Given the description of an element on the screen output the (x, y) to click on. 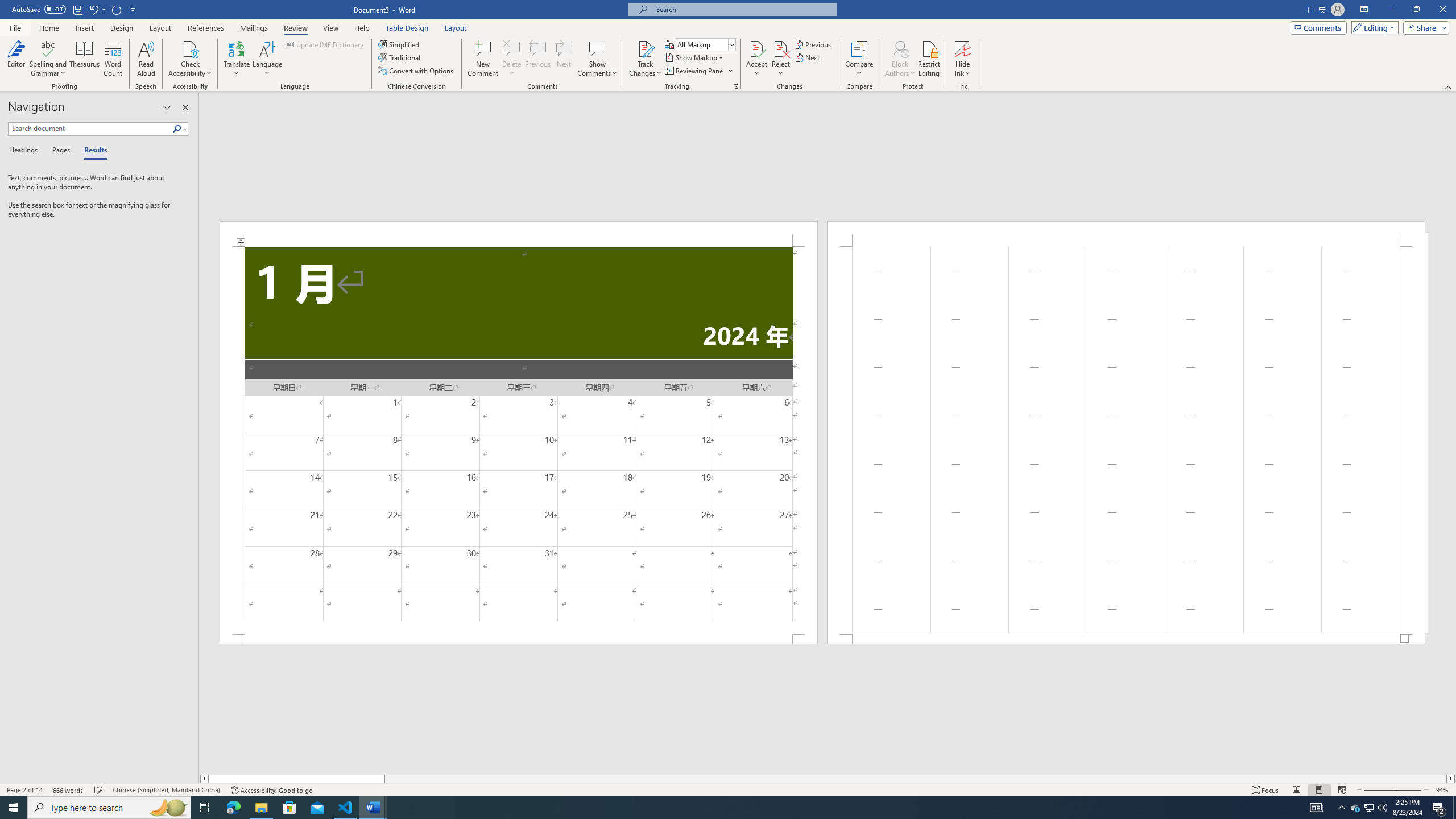
Reject (780, 58)
Reviewing Pane (694, 69)
Traditional (400, 56)
Read Aloud (145, 58)
Hide Ink (962, 58)
